Given the description of an element on the screen output the (x, y) to click on. 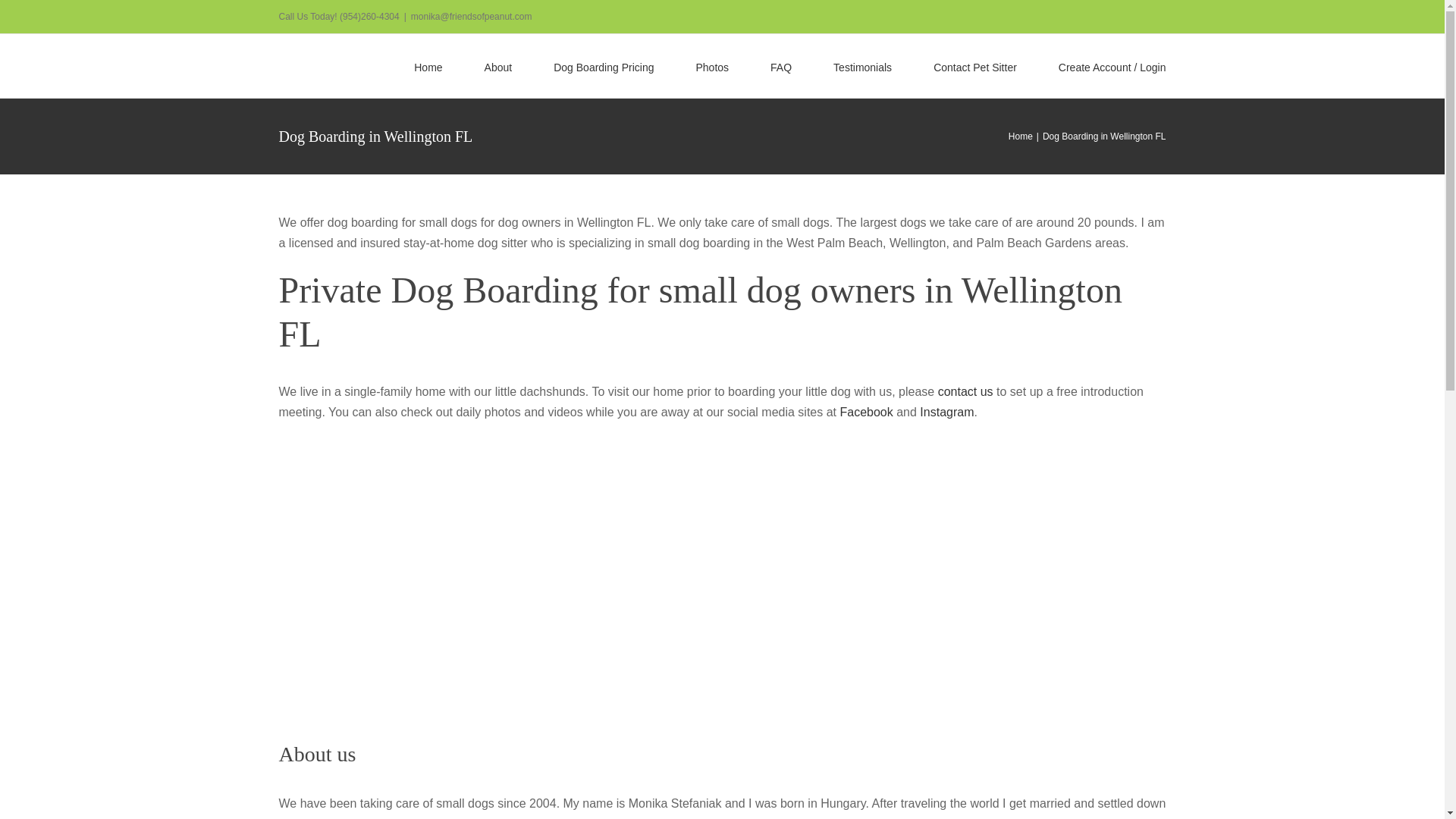
YouTube video player 1 (506, 767)
Facebook (866, 411)
Contact Pet Sitter (974, 65)
contact us (964, 391)
Dog Boarding Pricing (603, 65)
Instagram (947, 411)
Home (1020, 136)
Testimonials (861, 65)
